Given the description of an element on the screen output the (x, y) to click on. 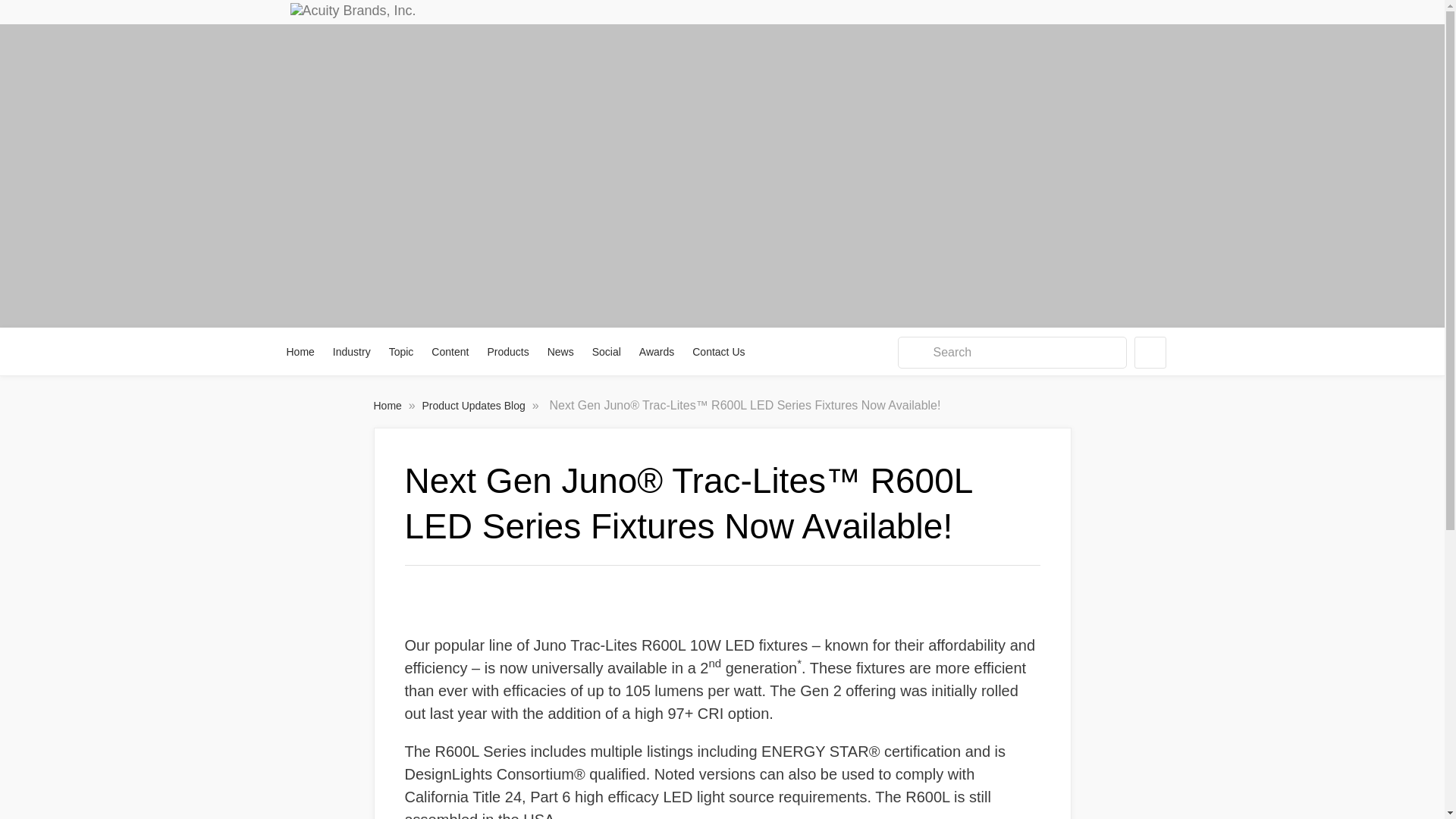
Home (301, 351)
Industry (351, 351)
Topic (401, 351)
